Given the description of an element on the screen output the (x, y) to click on. 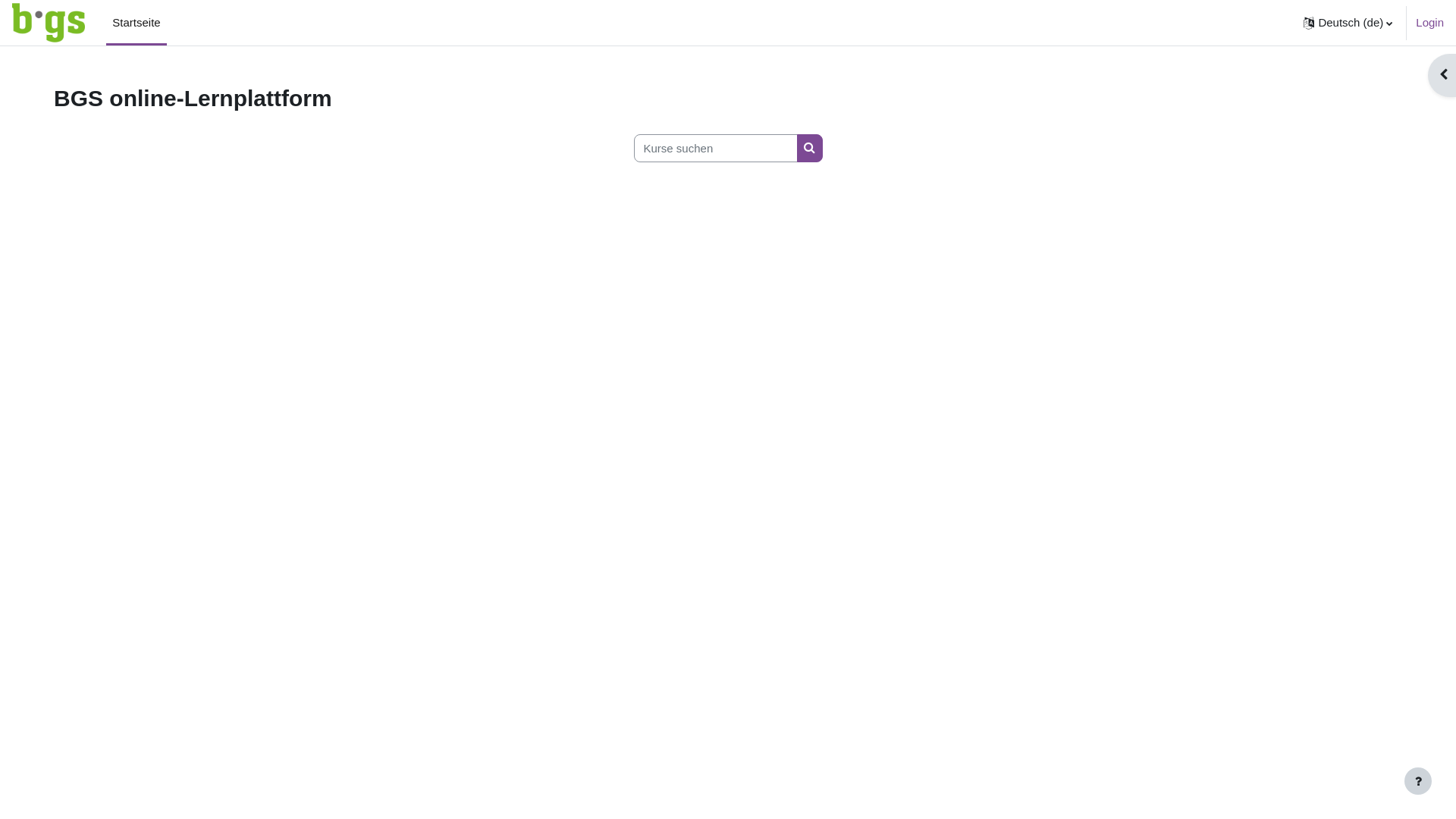
Startseite Element type: text (136, 22)
Kurse suchen Element type: text (809, 148)
Deutsch (de) Element type: text (1347, 22)
Login Element type: text (1429, 22)
